Given the description of an element on the screen output the (x, y) to click on. 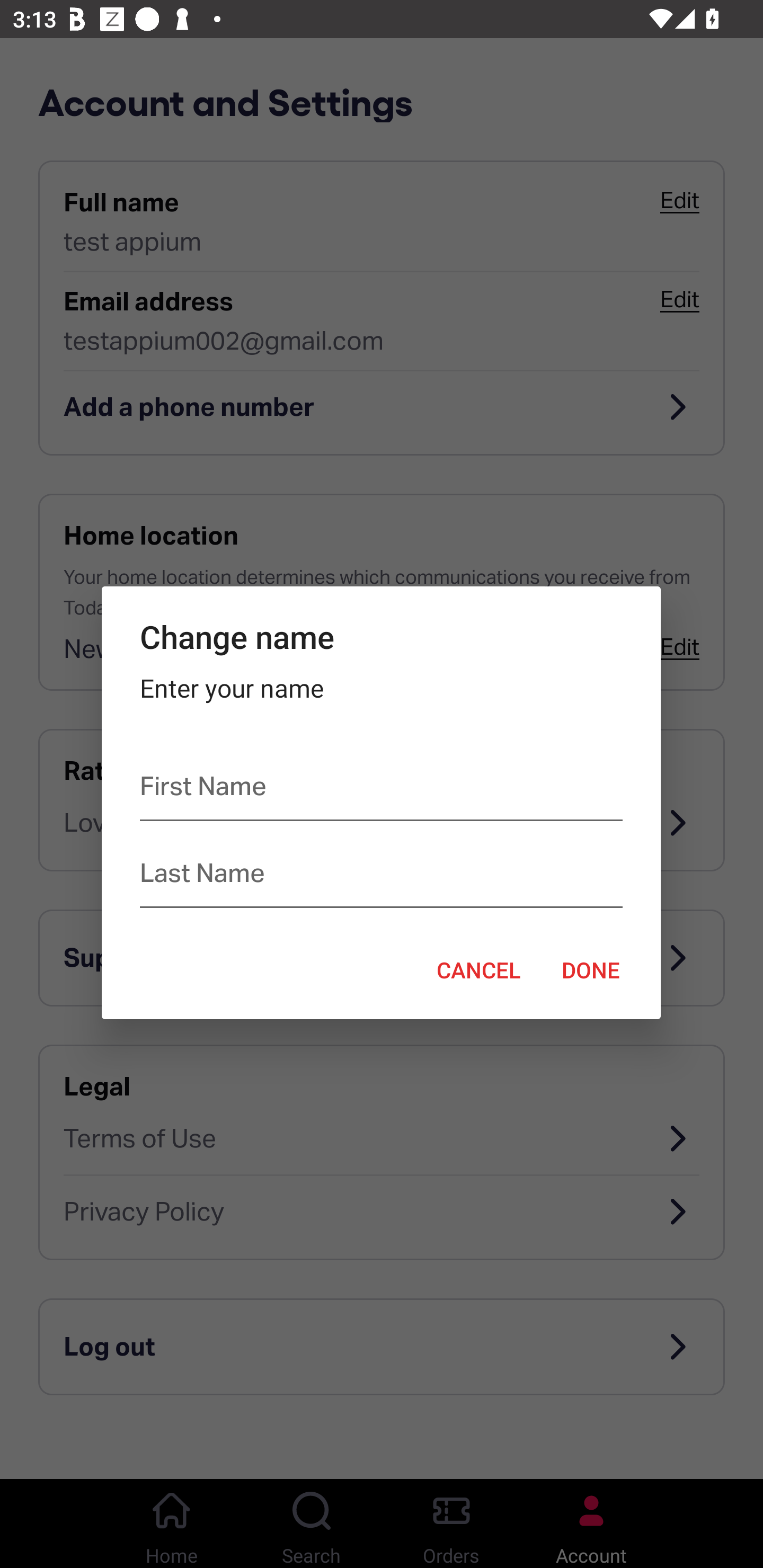
First Name (380, 790)
Last Name (380, 877)
CANCEL (478, 969)
DONE (590, 969)
